Given the description of an element on the screen output the (x, y) to click on. 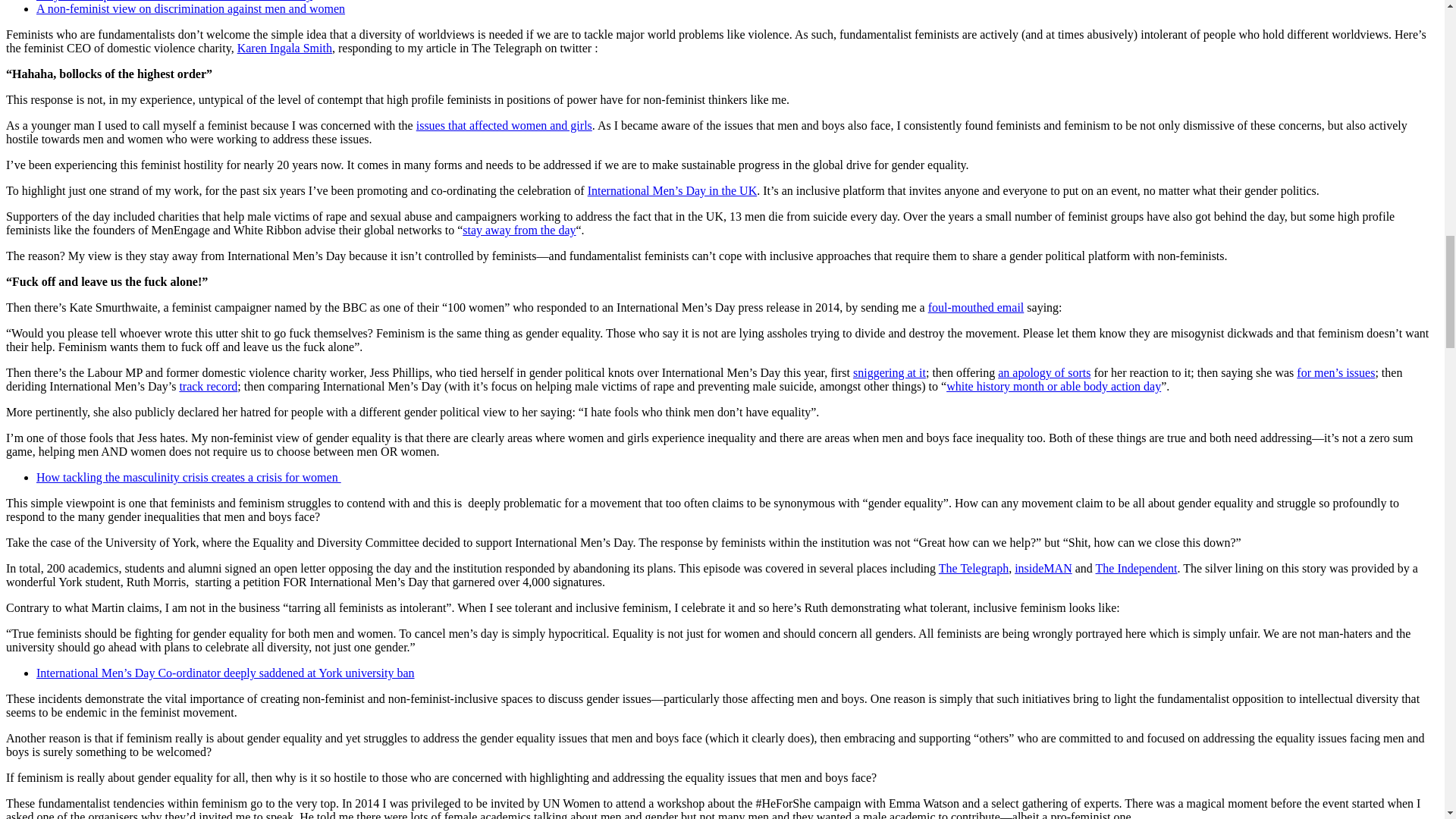
stay away from the day (519, 229)
issues that affected women and girls (504, 124)
sniggering at it (889, 372)
The Telegraph (974, 567)
The Independent (1136, 567)
A non-feminist view on discrimination against men and women (190, 8)
an apology of sorts (1043, 372)
track record (208, 386)
foul-mouthed email (976, 307)
